Given the description of an element on the screen output the (x, y) to click on. 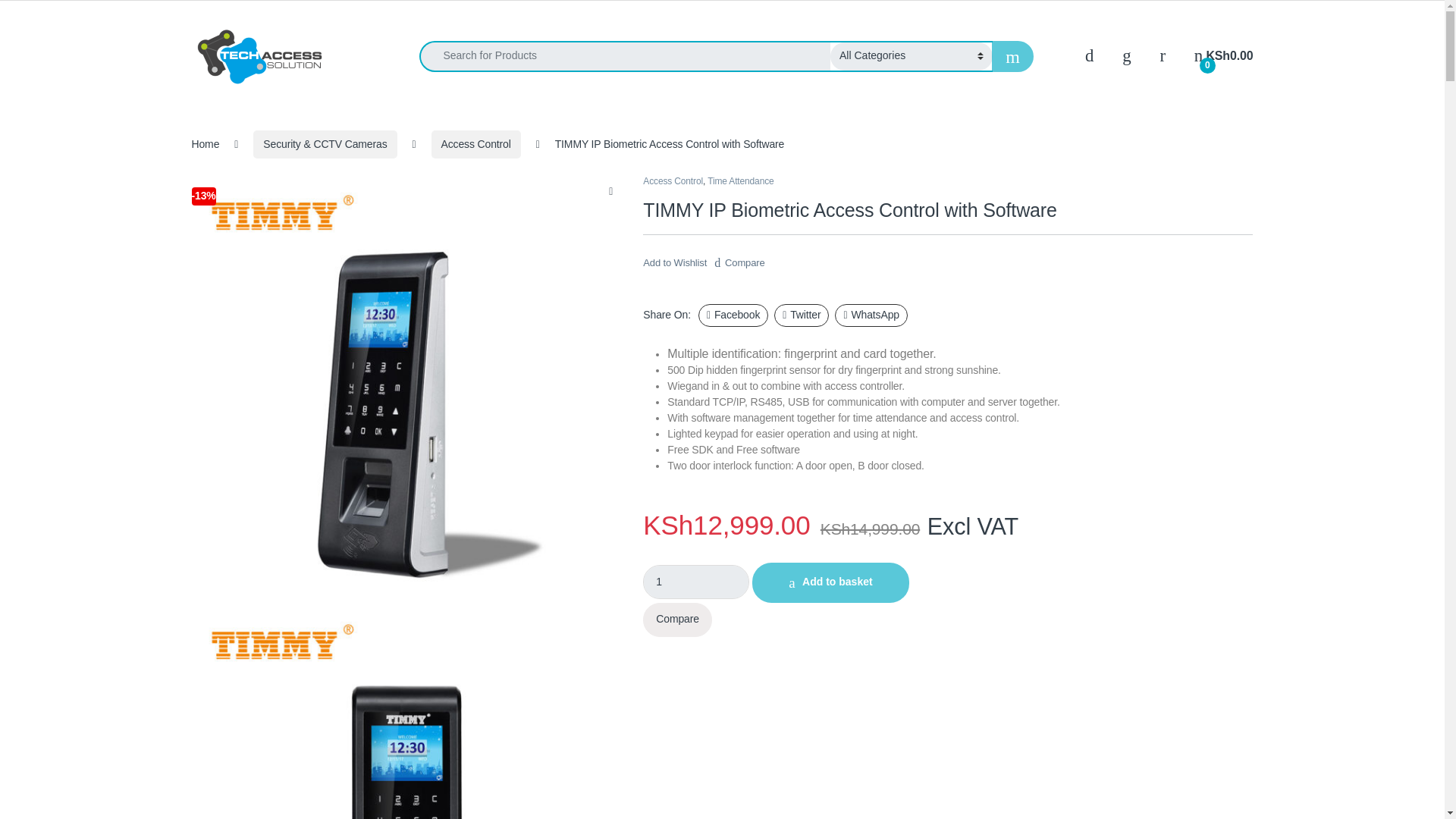
Access Control (475, 144)
Add to Wishlist (674, 262)
Compare (677, 619)
Facebook (733, 314)
Compare (739, 258)
Add to basket (830, 582)
timmy TFS70-2 (405, 711)
Twitter (801, 314)
1 (696, 581)
